Given the description of an element on the screen output the (x, y) to click on. 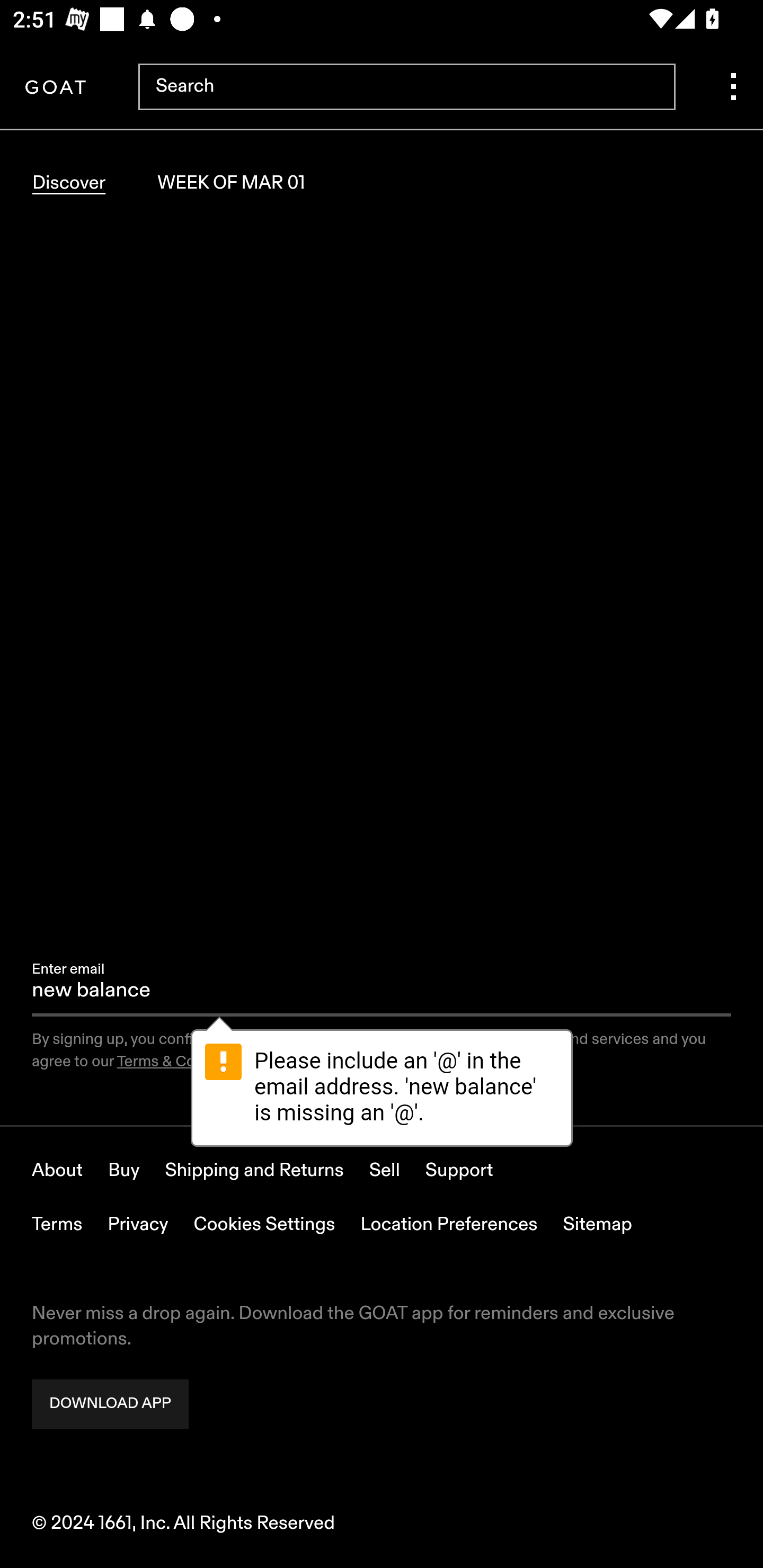
Search (406, 87)
menu (733, 87)
Goat Logo (55, 87)
Discover (68, 183)
WEEK OF MAR 01 (230, 183)
new balance (381, 997)
About (57, 1170)
Buy (123, 1170)
Sell (384, 1170)
Support (459, 1170)
Shipping and Returns (254, 1170)
Cookies Settings (263, 1225)
Location Preferences (448, 1225)
Terms (57, 1225)
Privacy (137, 1225)
Sitemap (597, 1225)
DOWNLOAD APP (110, 1404)
